Given the description of an element on the screen output the (x, y) to click on. 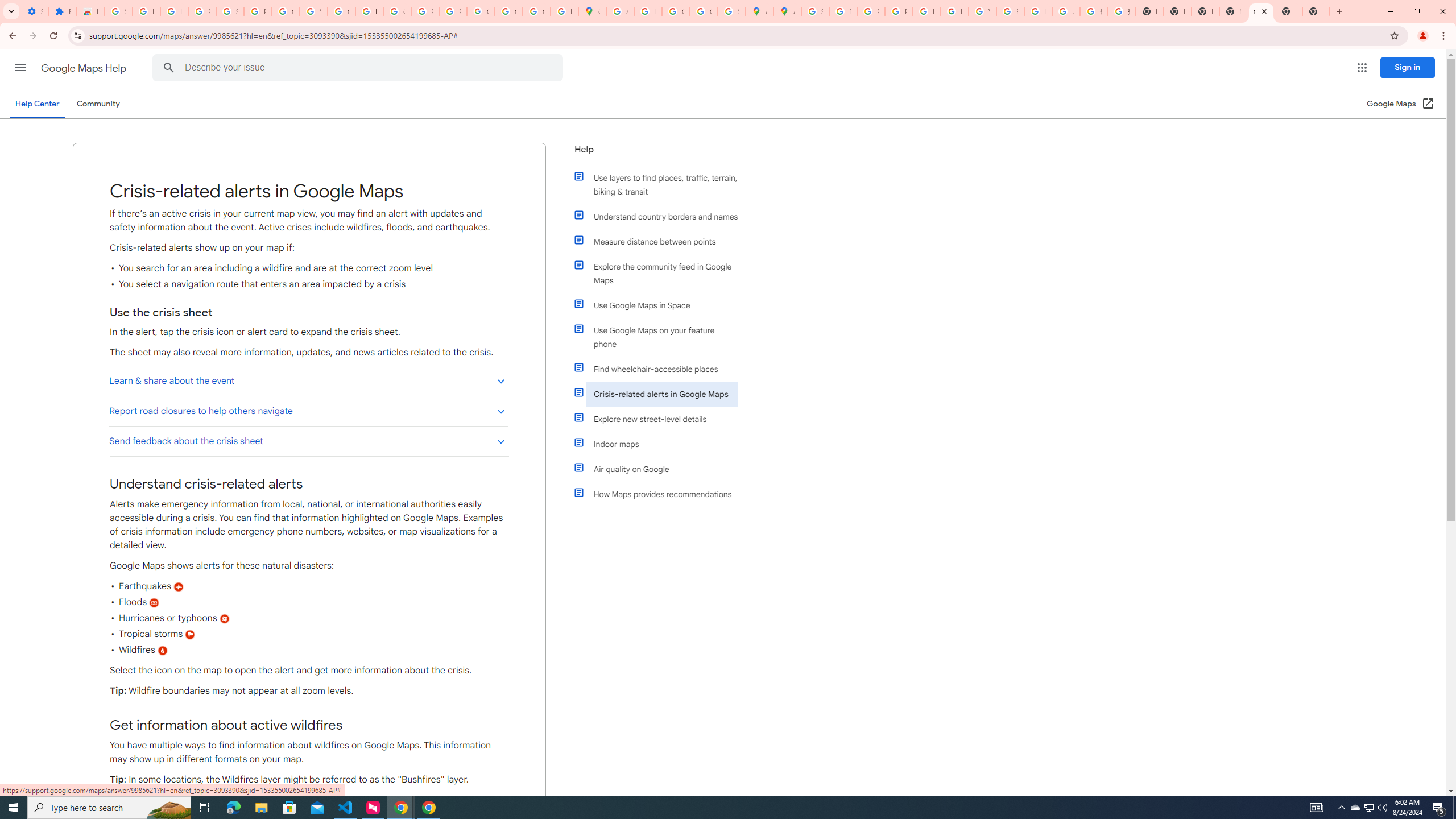
YouTube (982, 11)
How Maps provides recommendations (661, 493)
Report road closures to help others navigate (308, 410)
Explore the community feed in Google Maps (661, 273)
Privacy Help Center - Policies Help (898, 11)
New Tab (1233, 11)
Safety in Our Products - Google Safety Center (731, 11)
Community (97, 103)
Crisis-related alerts in Google Maps - Google Maps Help (1260, 11)
Reviews: Helix Fruit Jump Arcade Game (90, 11)
Explore new street-level details (661, 419)
